Given the description of an element on the screen output the (x, y) to click on. 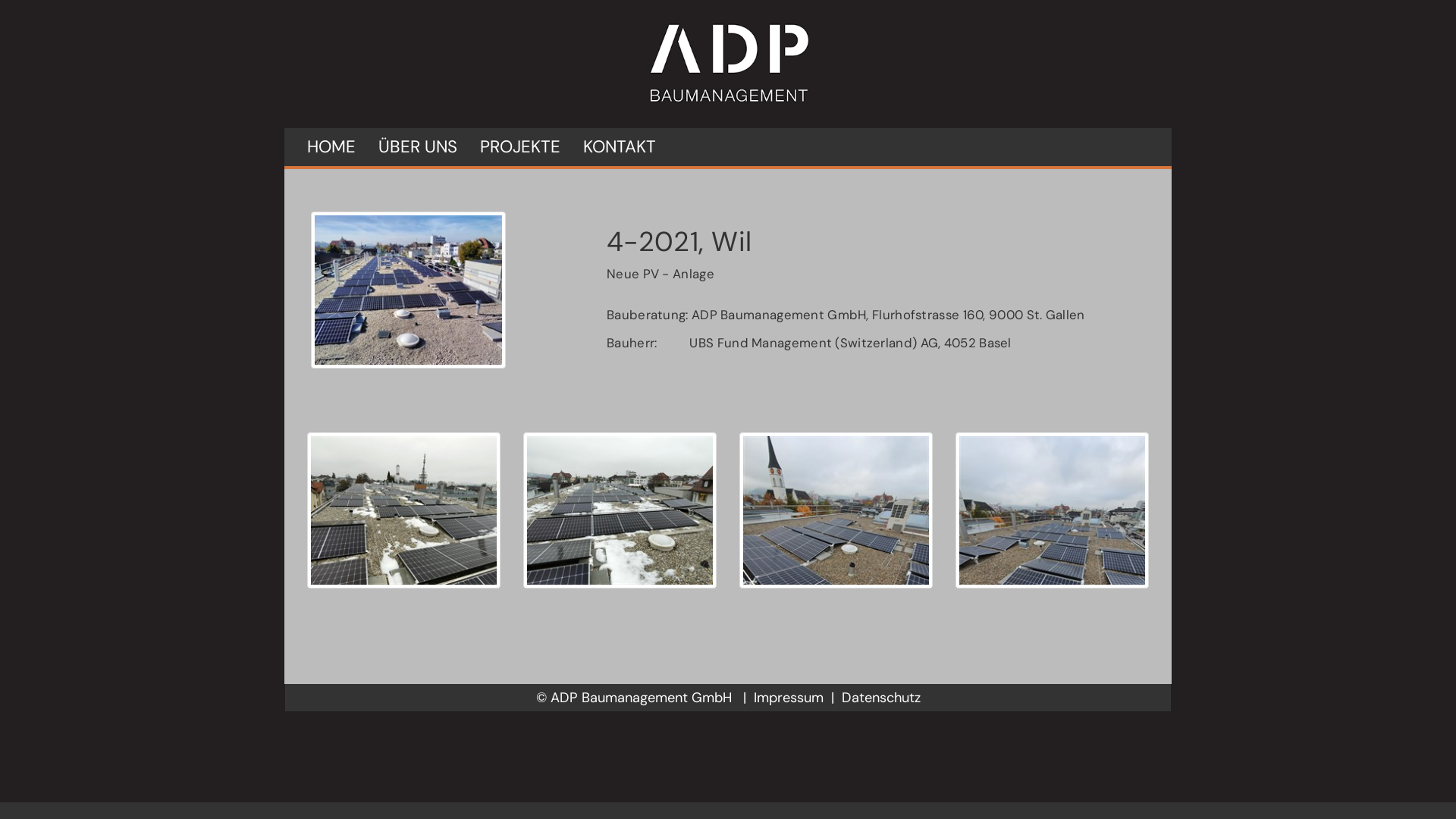
PROJEKTE Element type: text (519, 147)
KONTAKT Element type: text (619, 147)
HOME Element type: text (331, 147)
Impressum Element type: text (788, 697)
Datenschutz Element type: text (880, 697)
